Given the description of an element on the screen output the (x, y) to click on. 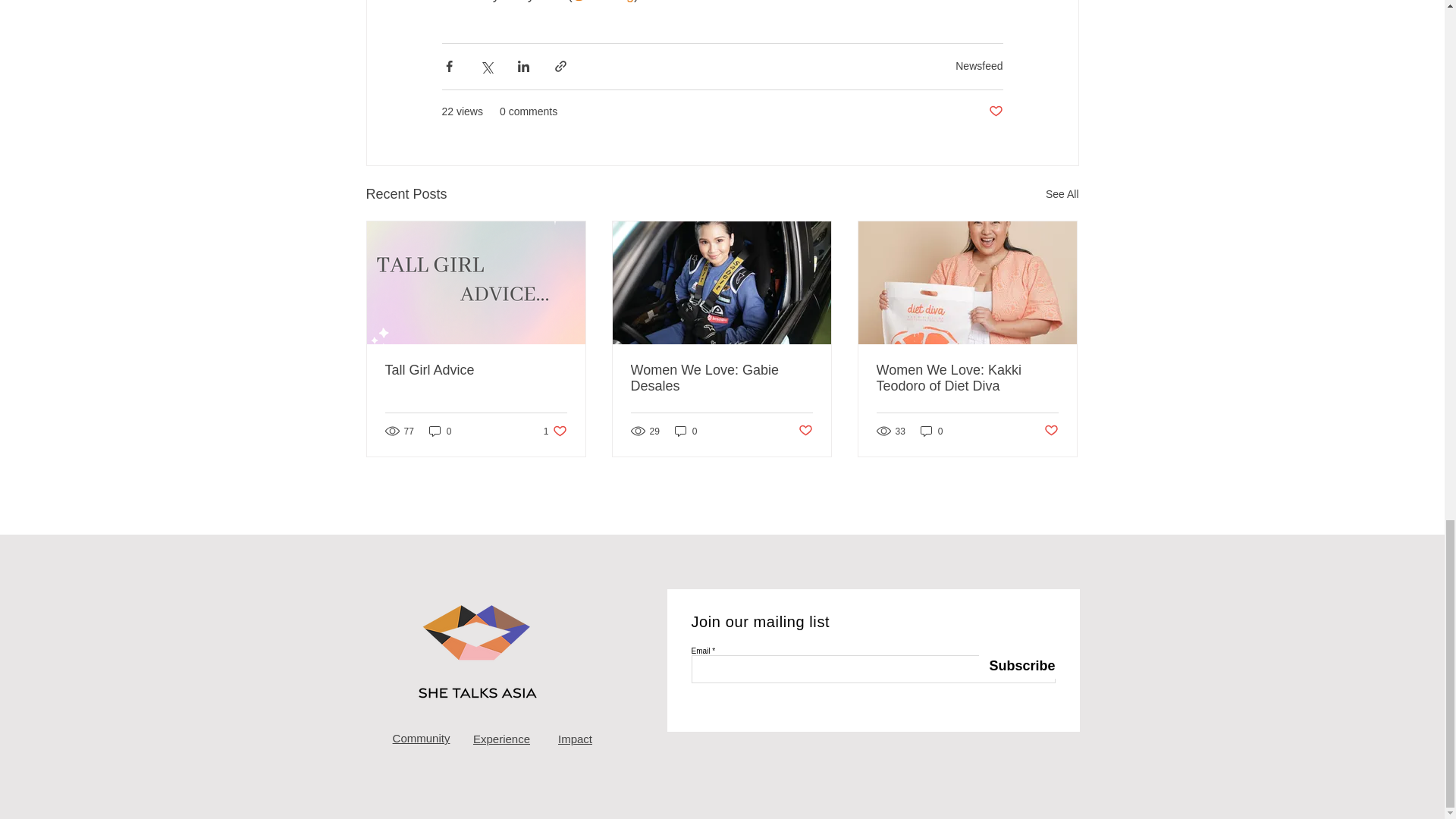
0 (440, 431)
Women We Love: Gabie Desales (721, 377)
Tall Girl Advice (476, 370)
0 (931, 431)
0 (685, 431)
Post not marked as liked (995, 111)
Women We Love: Kakki Teodoro of Diet Diva (967, 377)
Community (421, 738)
Newsfeed (979, 65)
Post not marked as liked (804, 430)
